Given the description of an element on the screen output the (x, y) to click on. 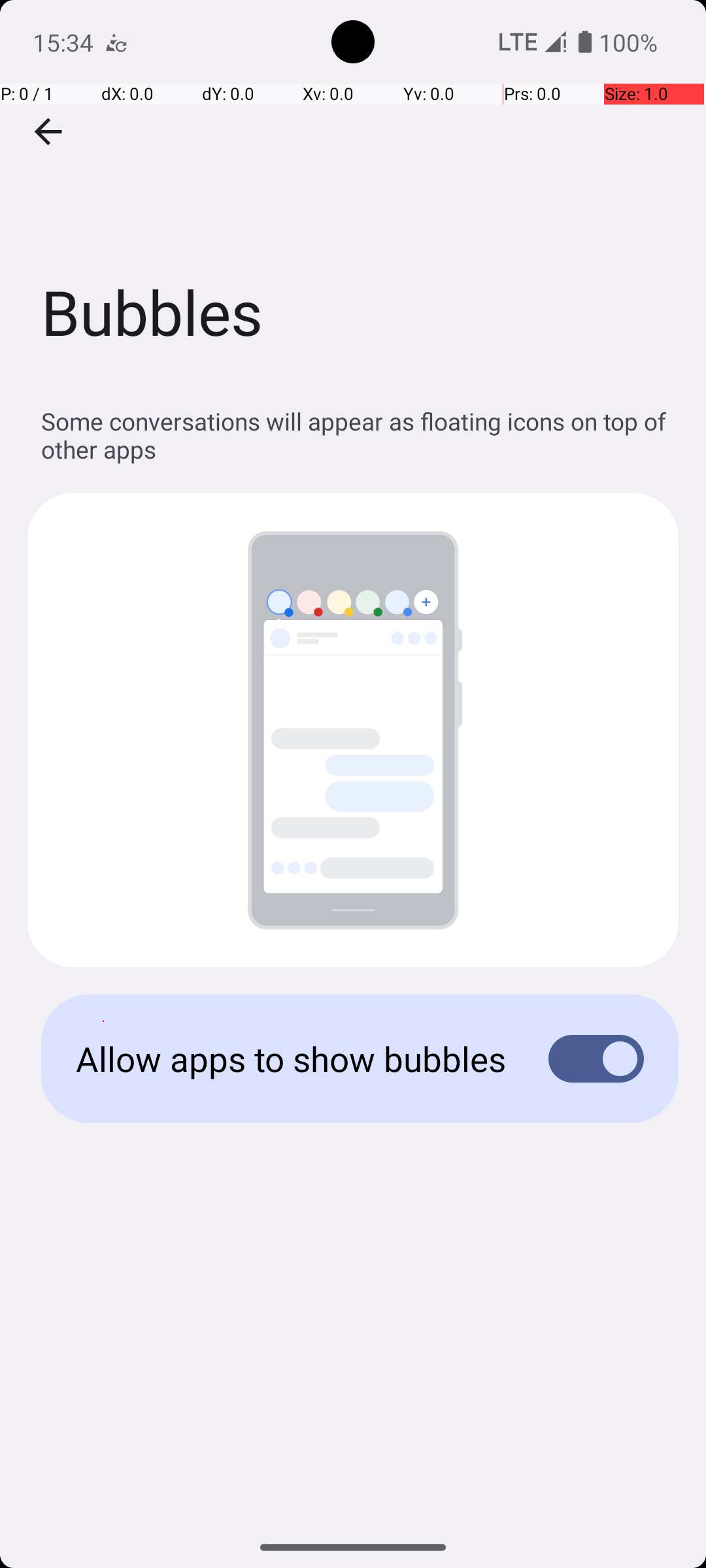
Some conversations will appear as floating icons on top of other apps Element type: android.widget.TextView (359, 434)
Allow apps to show bubbles Element type: android.widget.TextView (291, 1058)
